Given the description of an element on the screen output the (x, y) to click on. 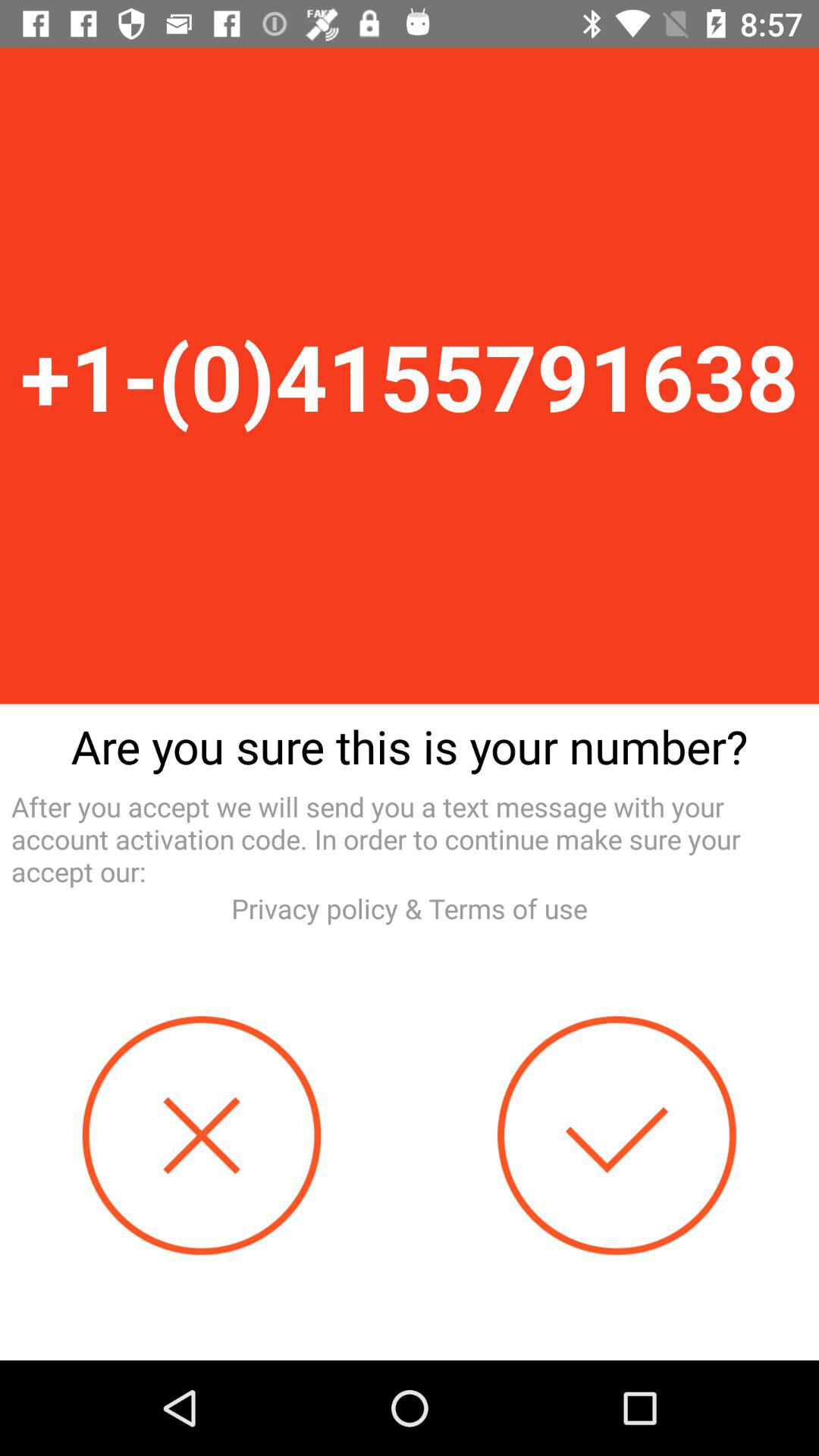
press the privacy policy terms icon (409, 908)
